Given the description of an element on the screen output the (x, y) to click on. 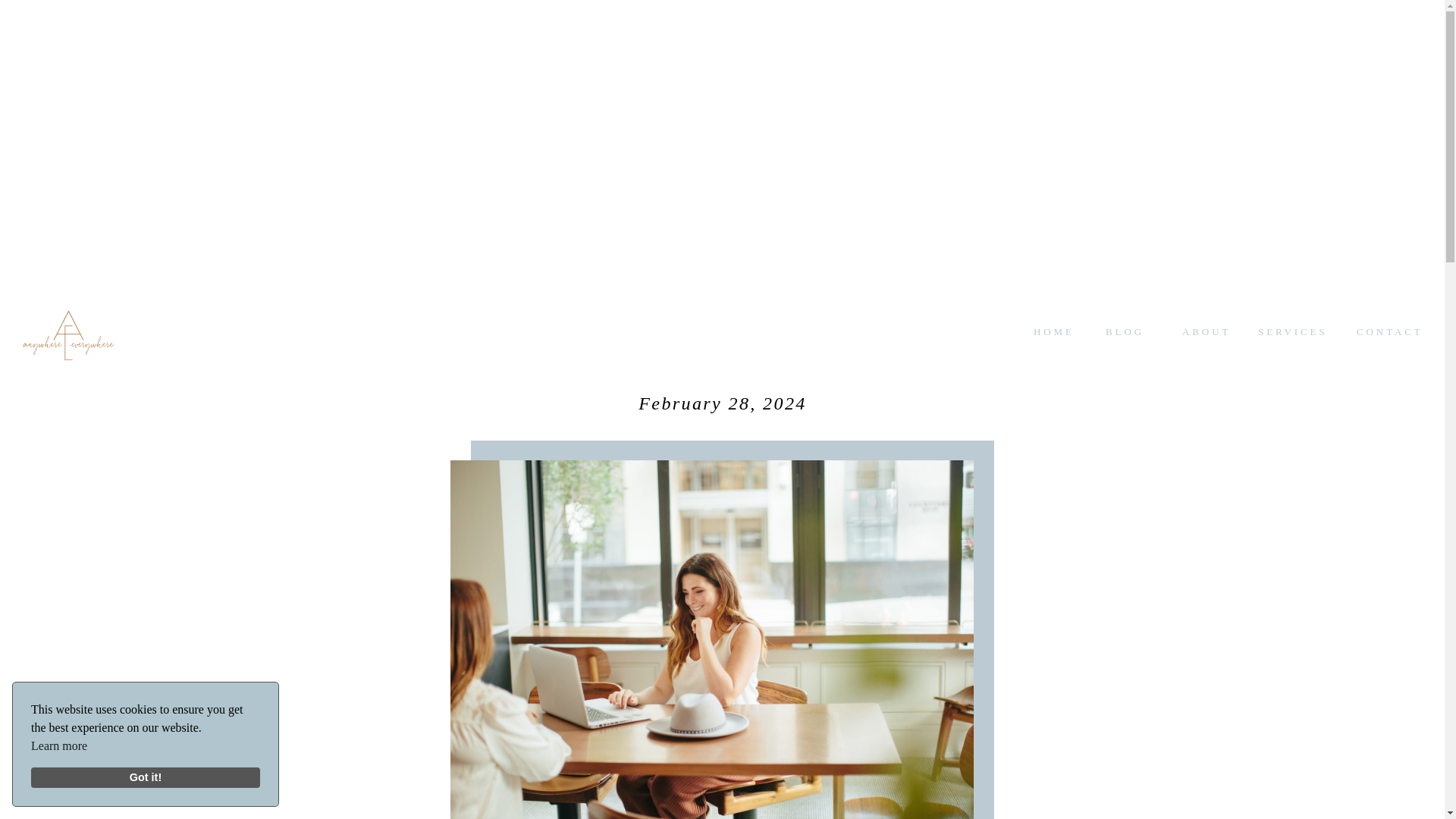
SERVICES (1293, 331)
Got it! (145, 777)
BLOG (1129, 331)
ABOUT (1206, 331)
HOME (1053, 331)
Learn more (58, 746)
CONTACT (1389, 331)
